Given the description of an element on the screen output the (x, y) to click on. 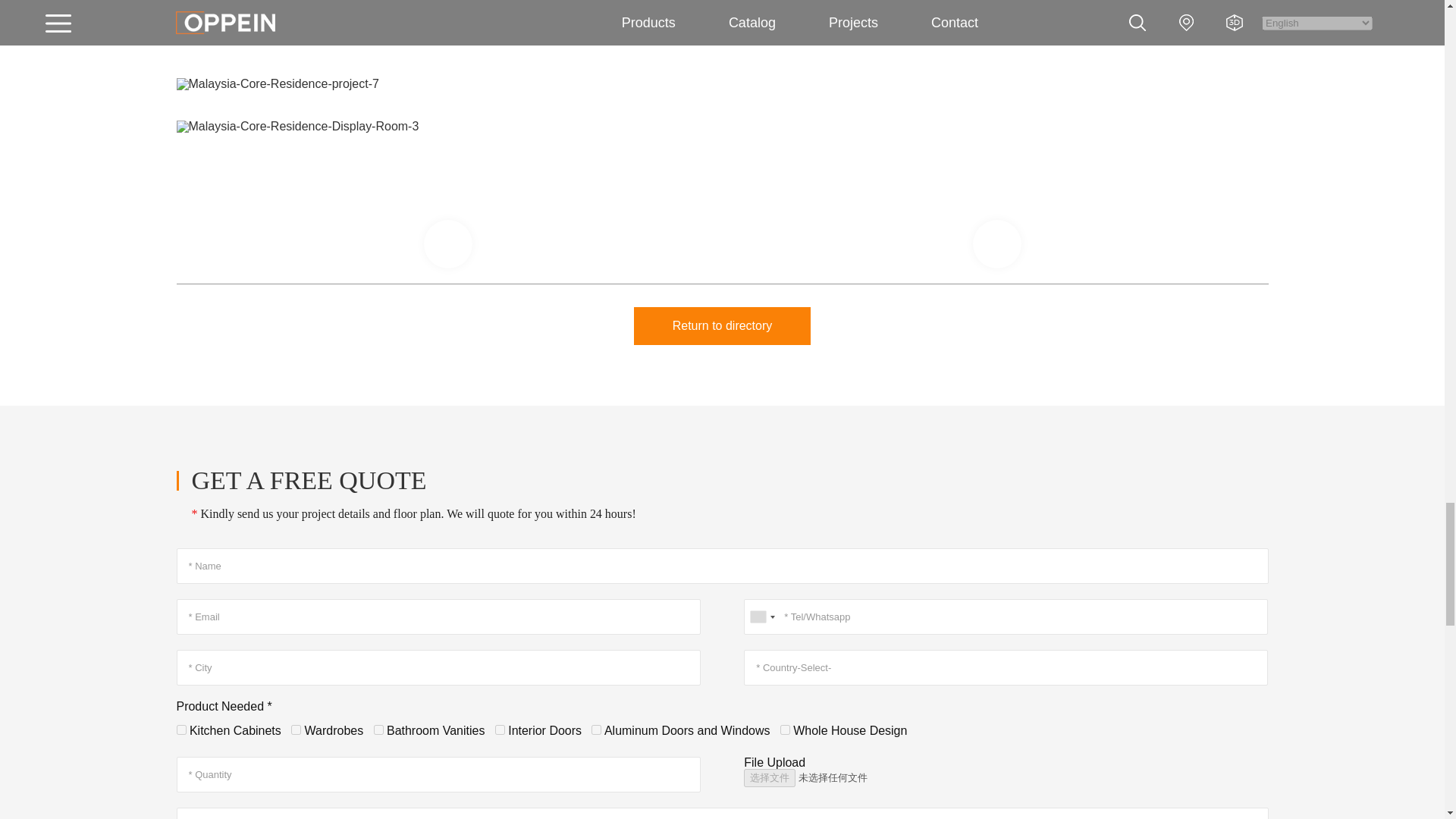
Bathroom Vanities (379, 729)
Interior Doors (500, 729)
Whole House Design (785, 729)
Aluminum Doors and Windows (596, 729)
Kitchen Cabinets (181, 729)
Wardrobes (296, 729)
